Given the description of an element on the screen output the (x, y) to click on. 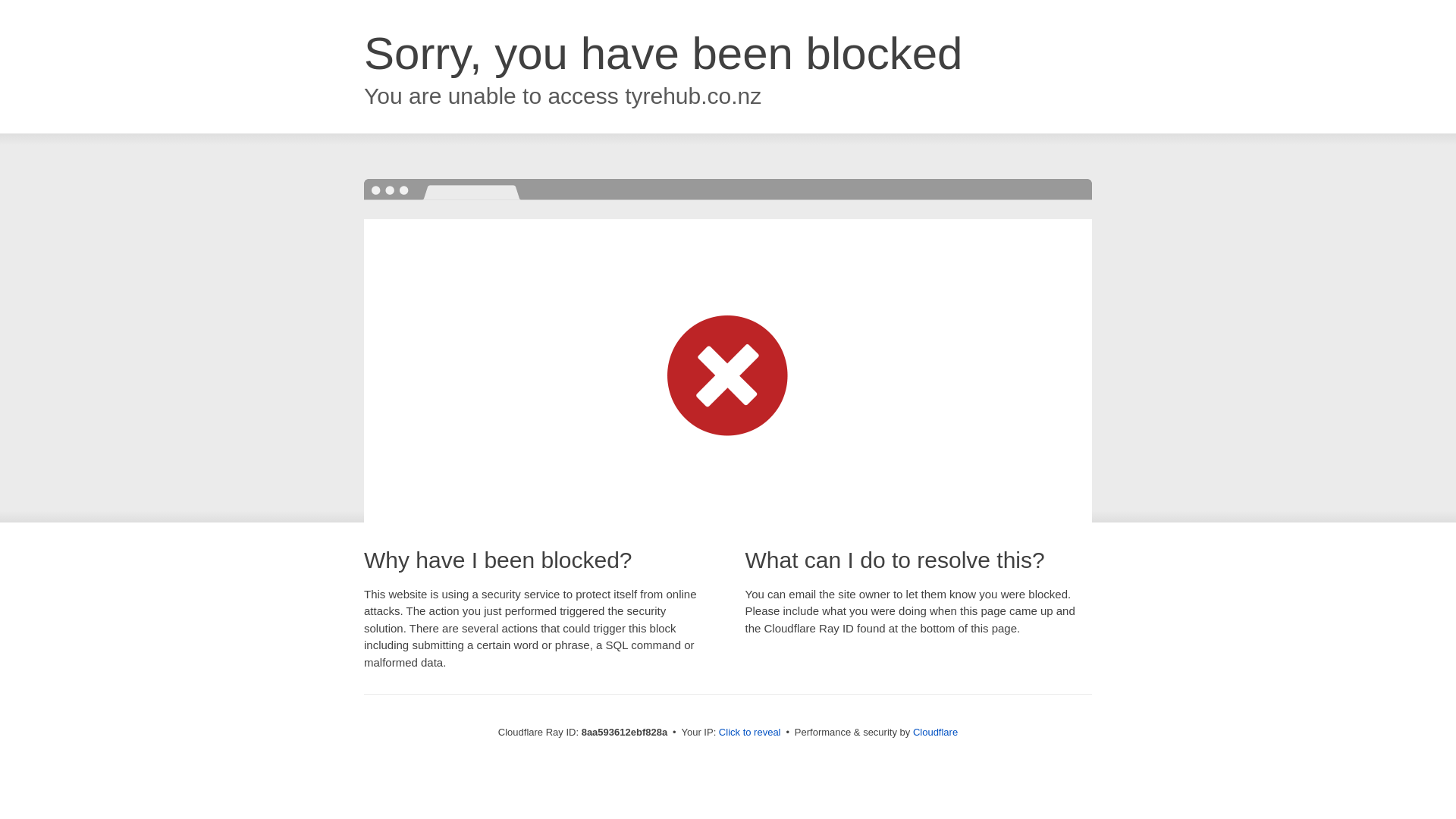
Click to reveal (749, 732)
Cloudflare (935, 731)
